Given the description of an element on the screen output the (x, y) to click on. 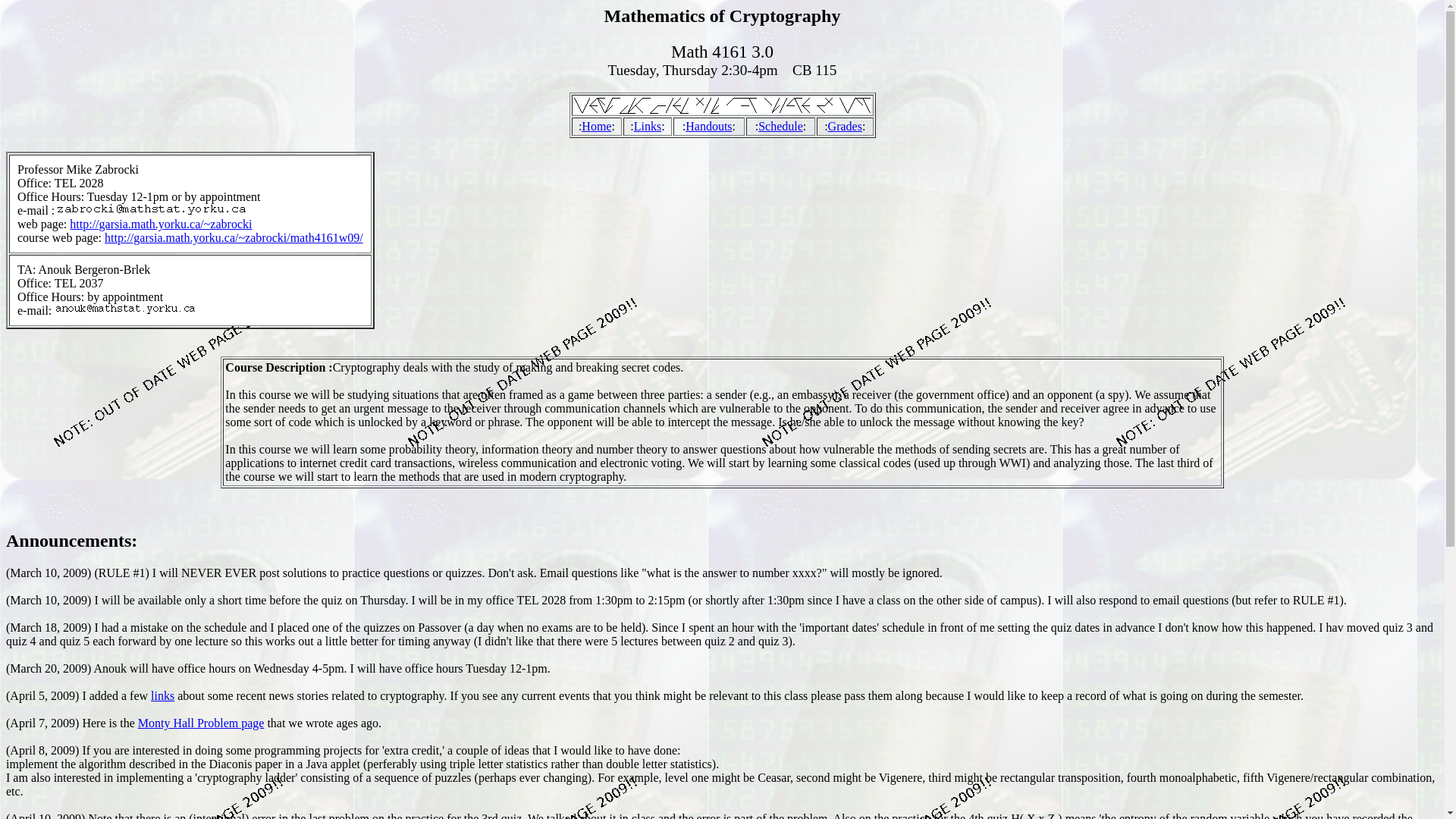
Grades (844, 125)
Home (595, 125)
Schedule (780, 125)
Monty Hall Problem page (201, 722)
links (162, 695)
Links (647, 125)
Handouts (708, 125)
